Given the description of an element on the screen output the (x, y) to click on. 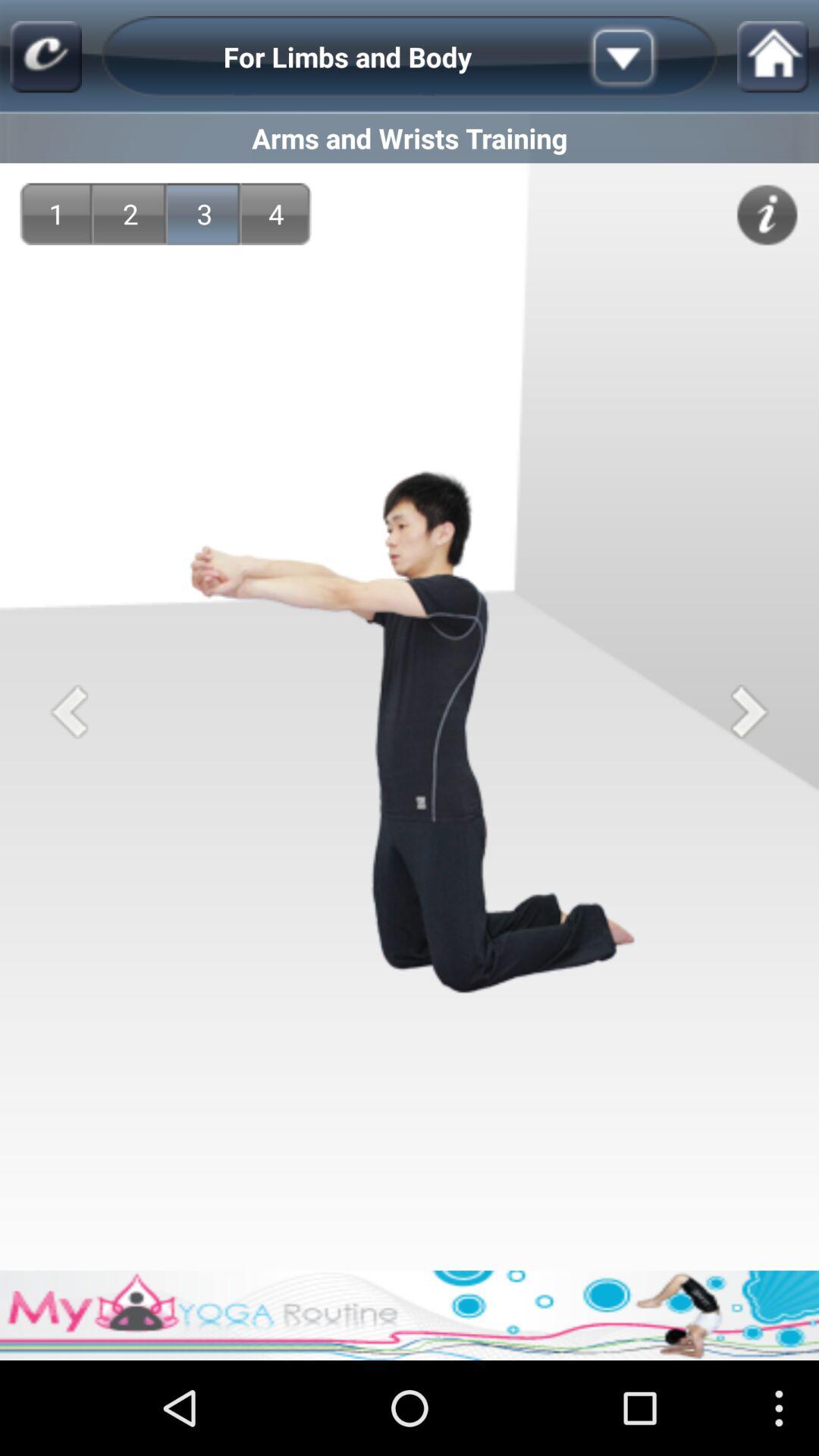
press the item to the right of the 2 item (204, 214)
